Given the description of an element on the screen output the (x, y) to click on. 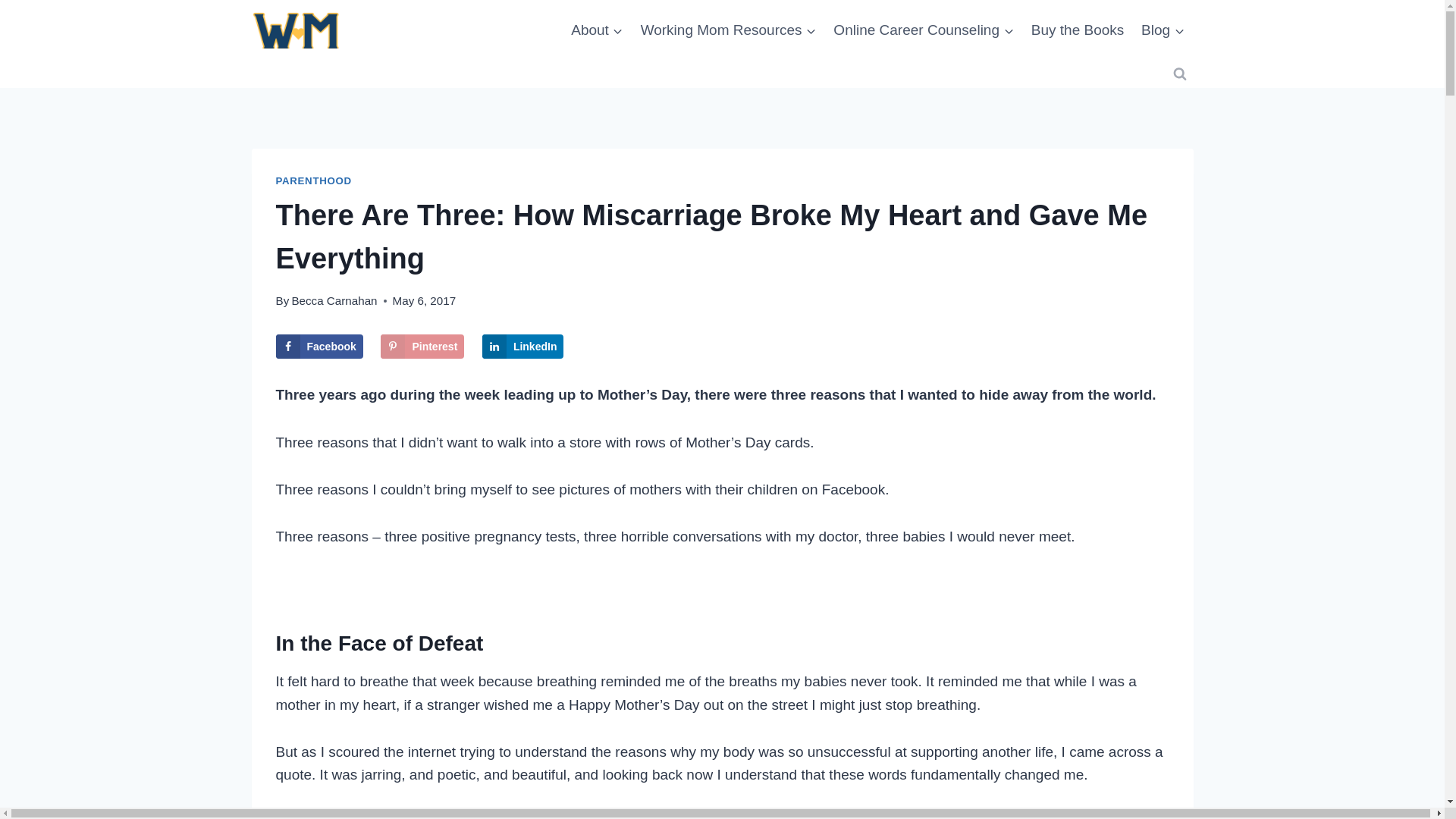
Share on Facebook (319, 346)
PARENTHOOD (314, 180)
Pinterest (422, 346)
Facebook (319, 346)
Buy the Books (1077, 29)
Online Career Counseling (923, 29)
LinkedIn (522, 346)
Working Mom Resources (728, 29)
Save to Pinterest (422, 346)
Becca Carnahan (334, 300)
Blog (1162, 29)
About (596, 29)
Share on LinkedIn (522, 346)
